Given the description of an element on the screen output the (x, y) to click on. 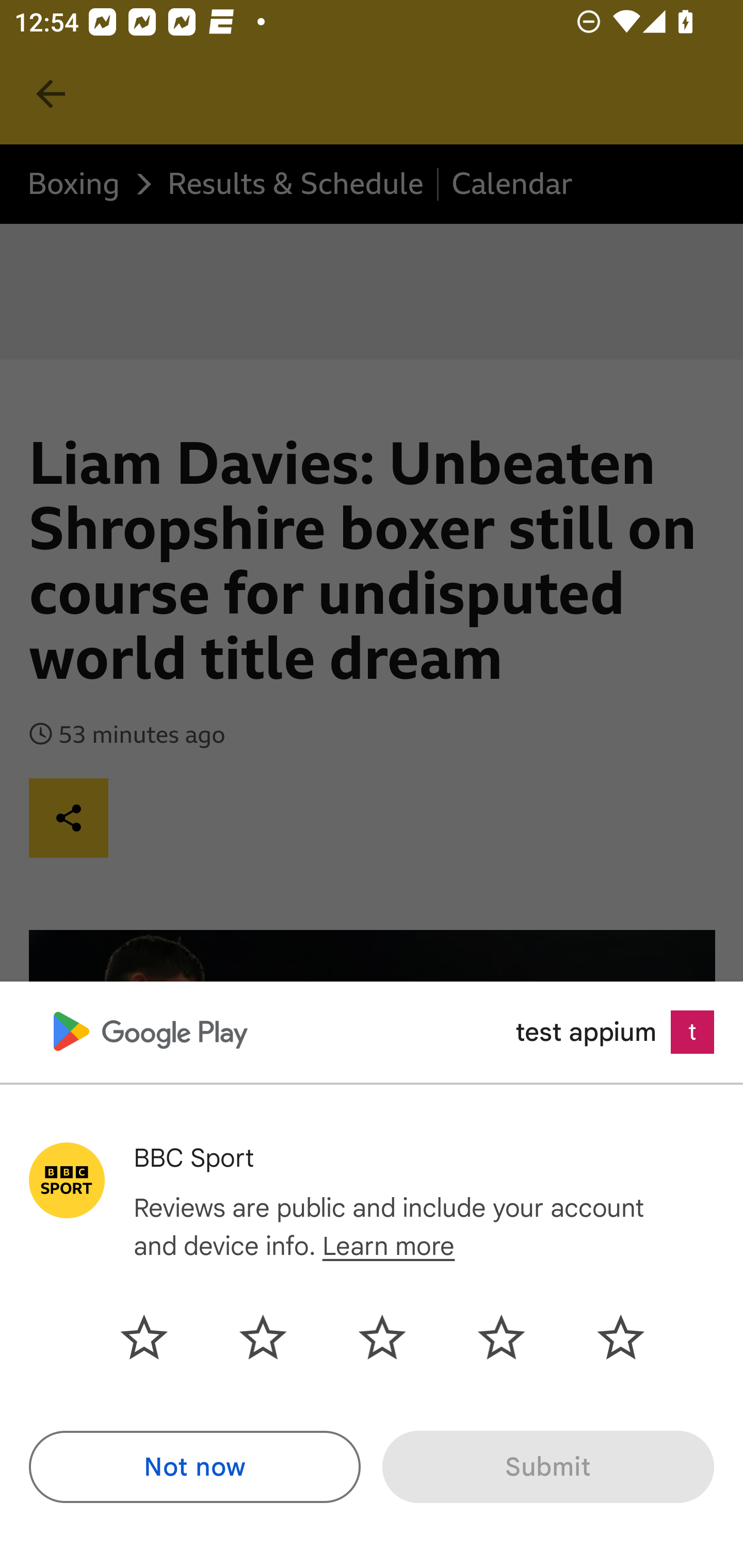
First star unselected (159, 1336)
Second star unselected (262, 1336)
Third star unselected (381, 1336)
Fourth star unselected (500, 1336)
Fifth star unselected (604, 1336)
Not now (194, 1466)
